Given the description of an element on the screen output the (x, y) to click on. 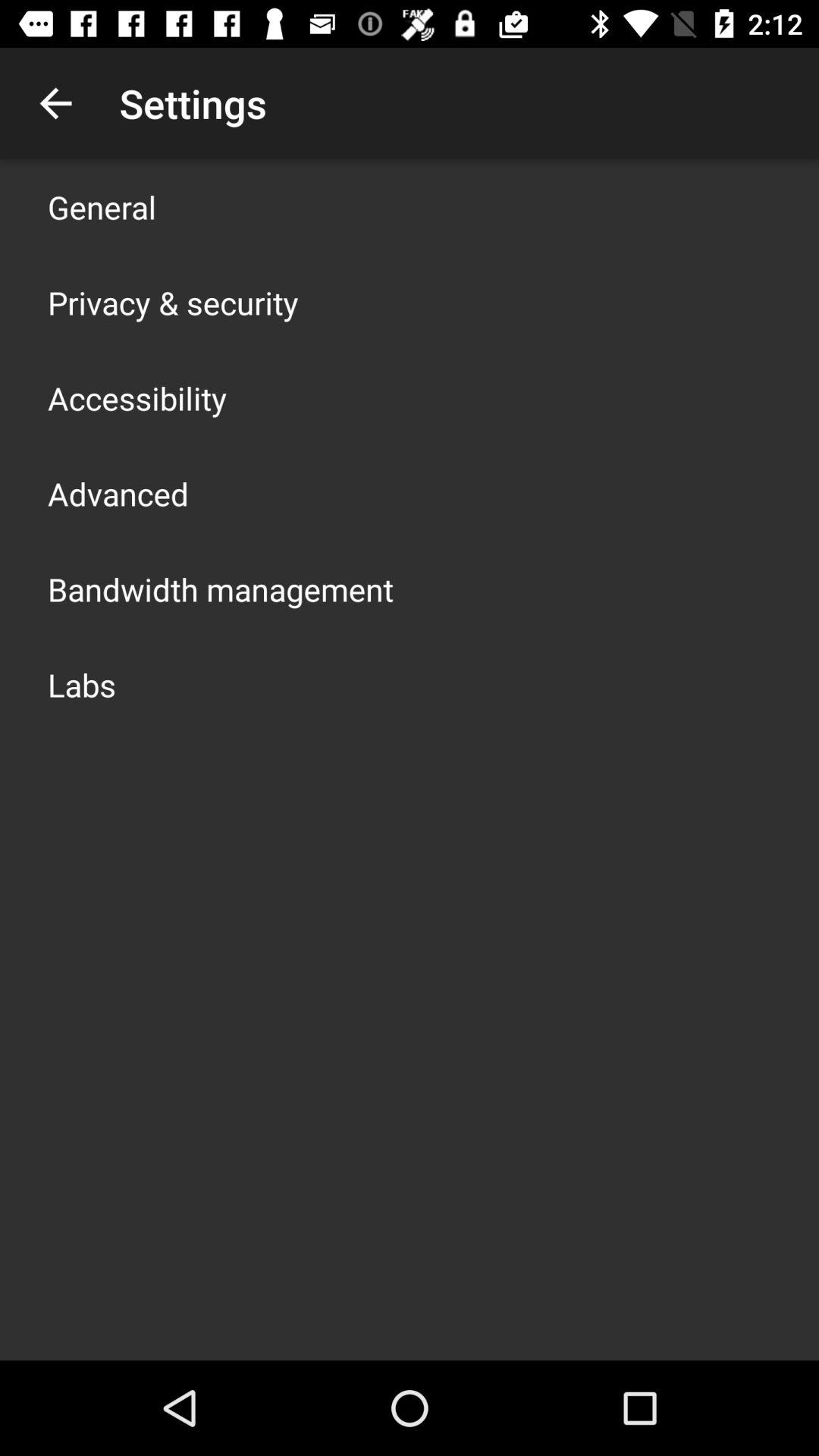
swipe to the bandwidth management item (220, 588)
